Given the description of an element on the screen output the (x, y) to click on. 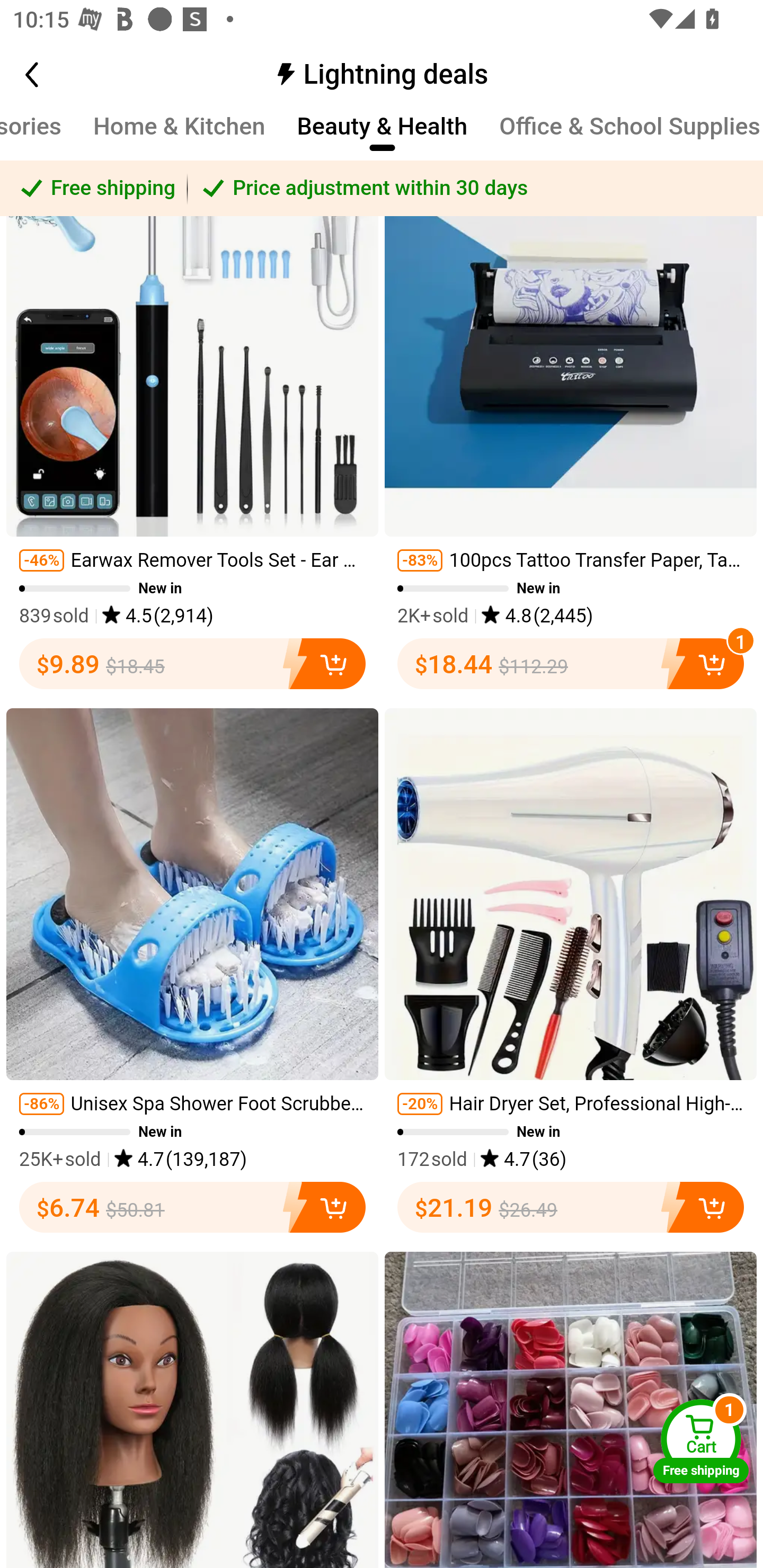
Back (50, 75)
Home & Kitchen (178, 135)
Beauty & Health (382, 135)
Office & School Supplies (630, 135)
Free shipping (94, 188)
Price adjustment within 30 days (475, 188)
$9.89 $18.45 (192, 663)
$18.44 $112.29 1 (570, 663)
1 (706, 664)
$6.74 $50.81 (192, 1207)
$21.19 $26.49 (570, 1207)
Cart Free shipping Cart (701, 1440)
